Given the description of an element on the screen output the (x, y) to click on. 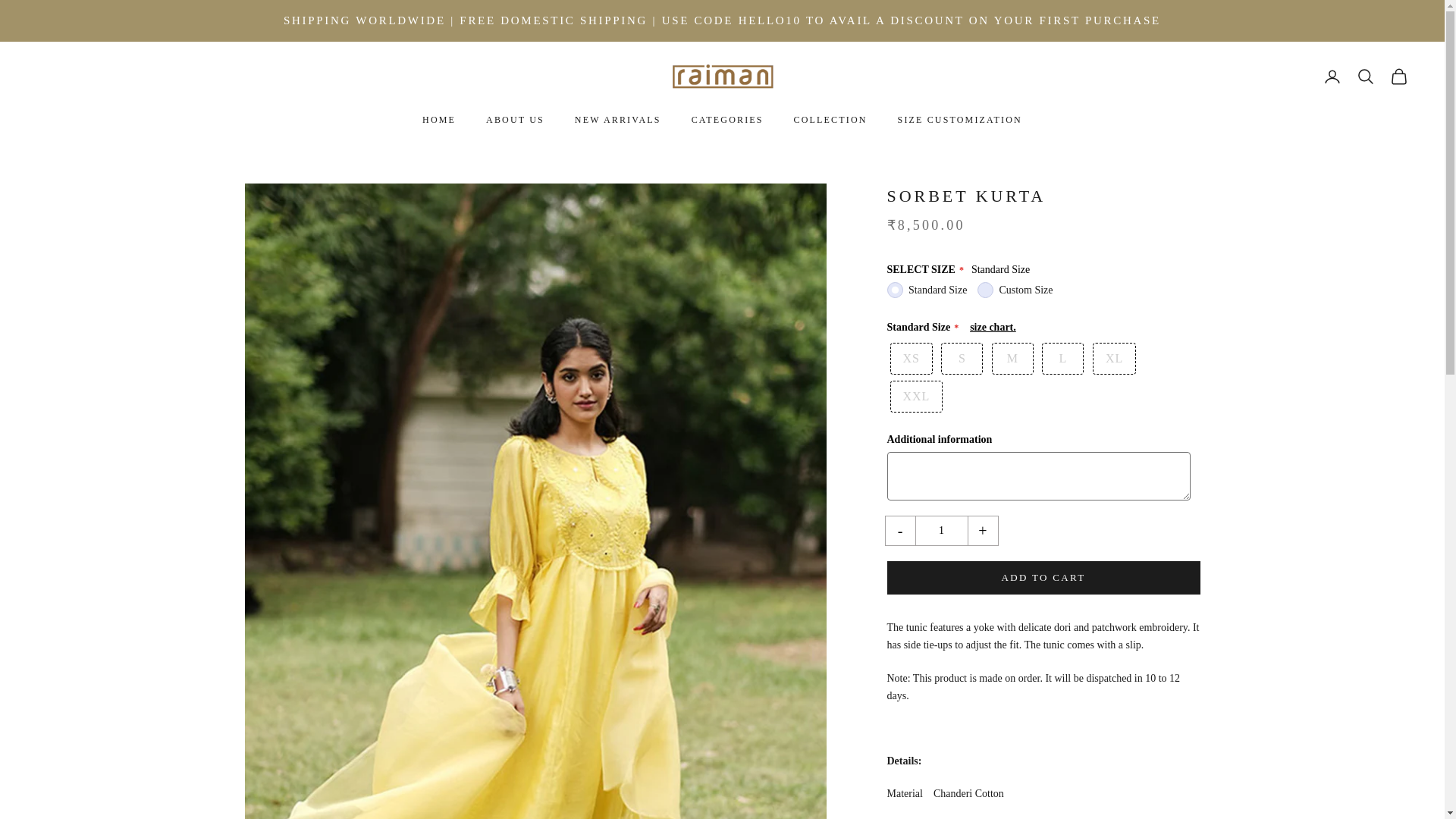
1 (941, 530)
SIZE CUSTOMIZATION (960, 119)
Custom Size (984, 289)
HOME (438, 119)
shopraiman (721, 76)
NEW ARRIVALS (618, 119)
Standard Size (894, 289)
Open search (1365, 76)
Open account page (1331, 76)
Open cart (1398, 76)
ABOUT US (515, 119)
